Given the description of an element on the screen output the (x, y) to click on. 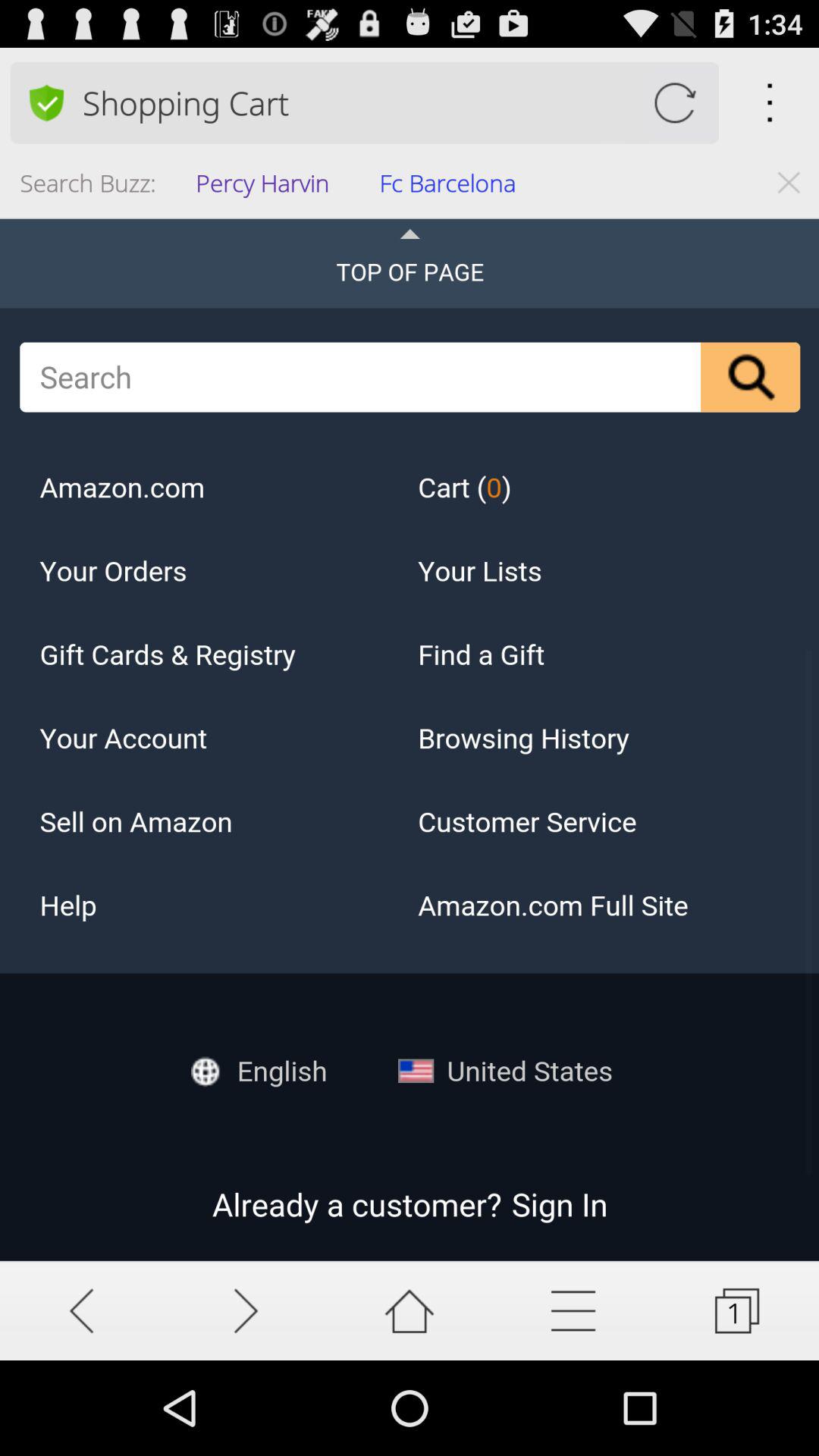
turn off the icon to the left of the fc barcelona item (267, 187)
